Given the description of an element on the screen output the (x, y) to click on. 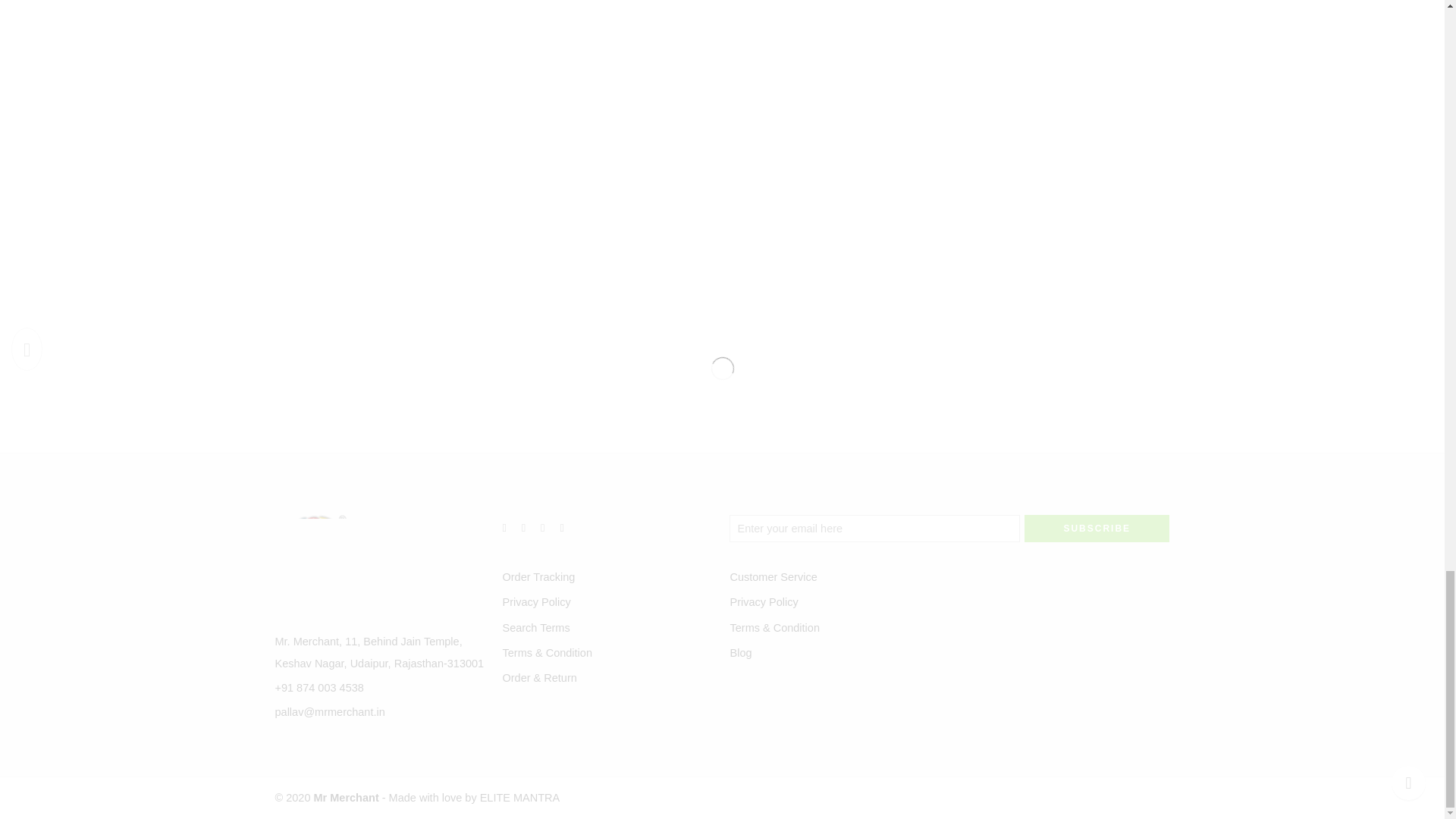
SUBSCRIBE (1097, 528)
